Given the description of an element on the screen output the (x, y) to click on. 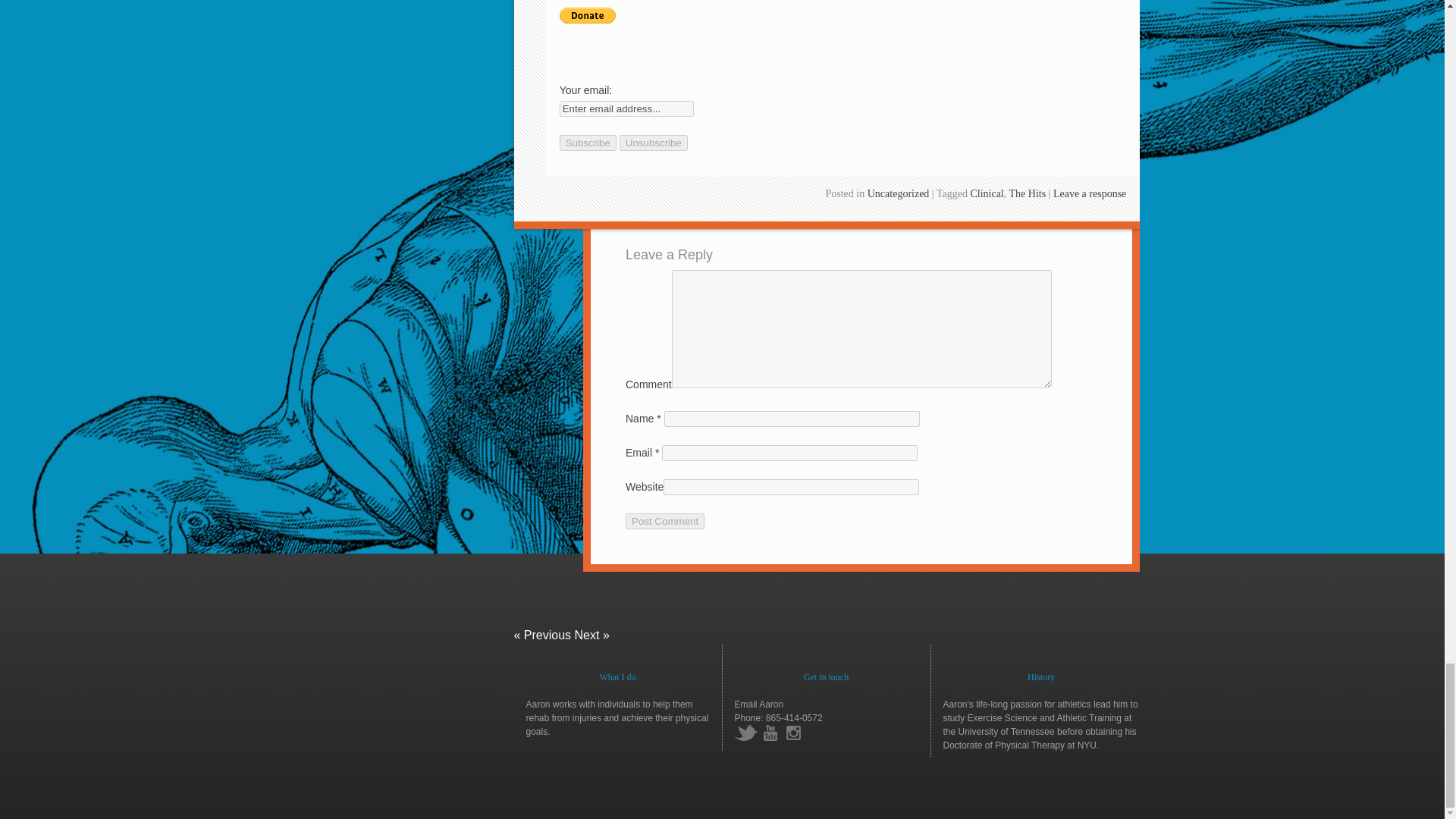
Unsubscribe (653, 142)
Enter email address... (626, 108)
Post Comment (665, 521)
Comment on Late Summer Hits 2016: Clinical (1088, 193)
Subscribe (587, 142)
